Given the description of an element on the screen output the (x, y) to click on. 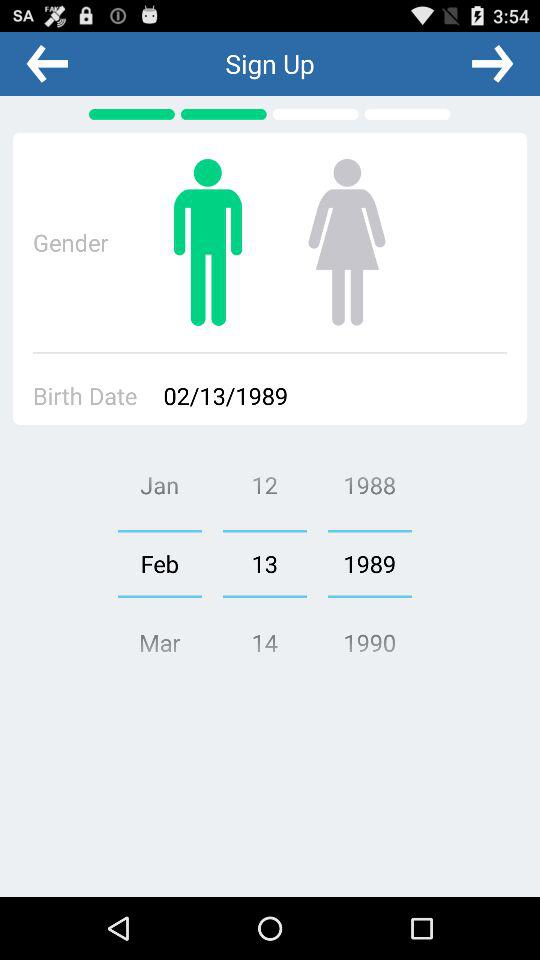
launch icon next to sign up app (492, 63)
